Given the description of an element on the screen output the (x, y) to click on. 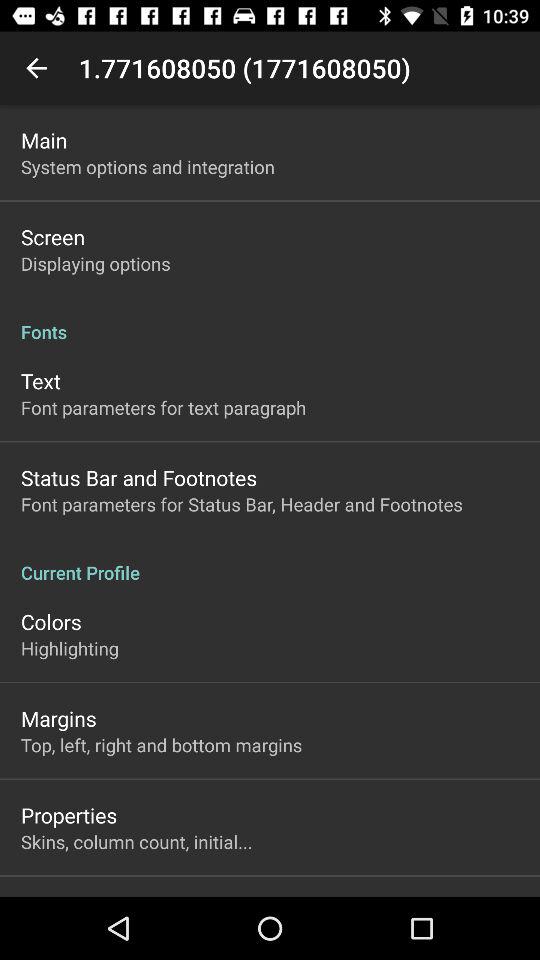
open item below screen app (95, 263)
